Given the description of an element on the screen output the (x, y) to click on. 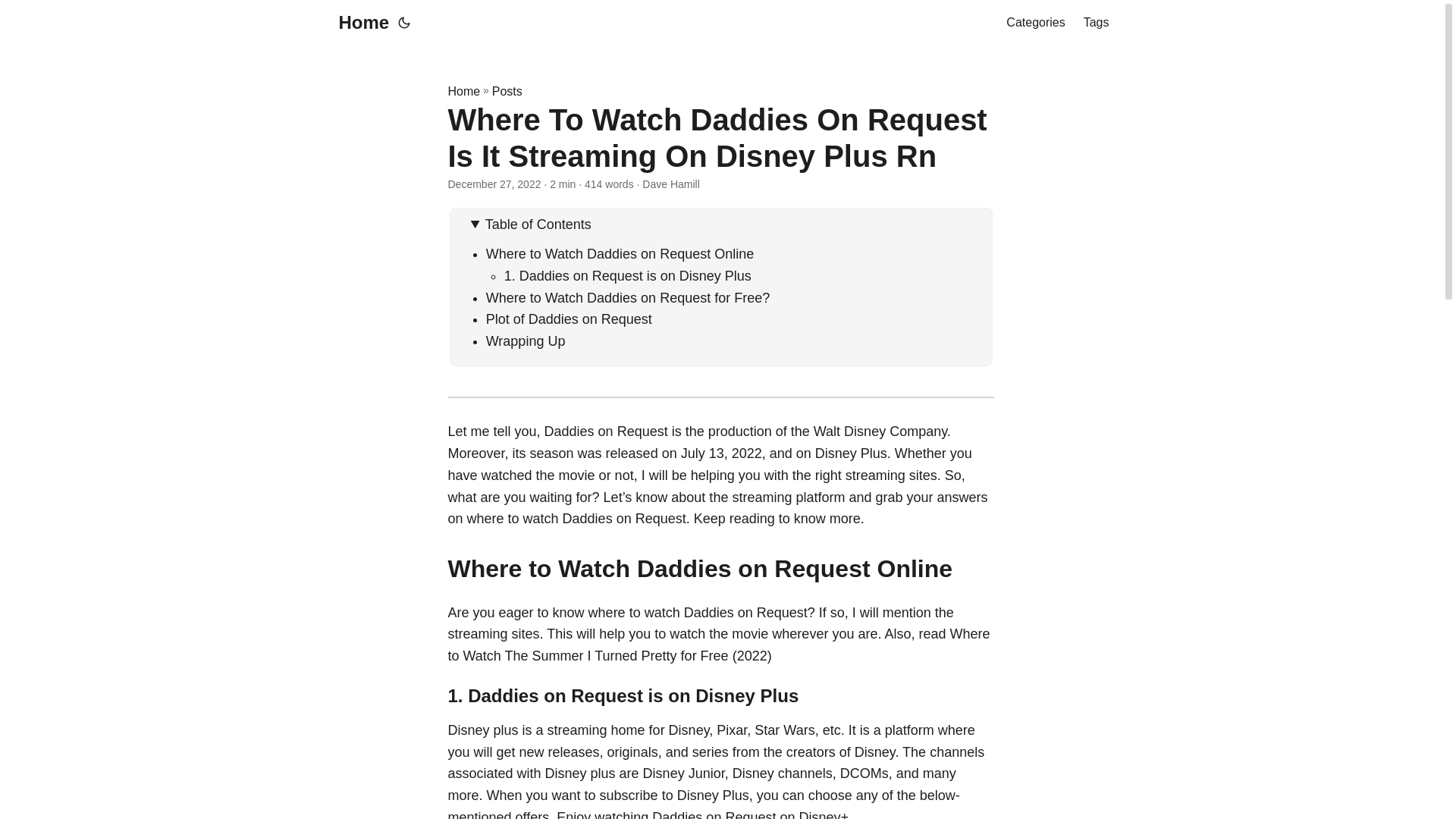
Plot of Daddies on Request (569, 319)
Categories (1035, 22)
Where to Watch Daddies on Request for Free? (628, 297)
Where to Watch Daddies on Request Online (620, 253)
1. Daddies on Request is on Disney Plus (627, 275)
Wrapping Up (526, 340)
Posts (507, 91)
Home (463, 91)
Home (359, 22)
Categories (1035, 22)
